Given the description of an element on the screen output the (x, y) to click on. 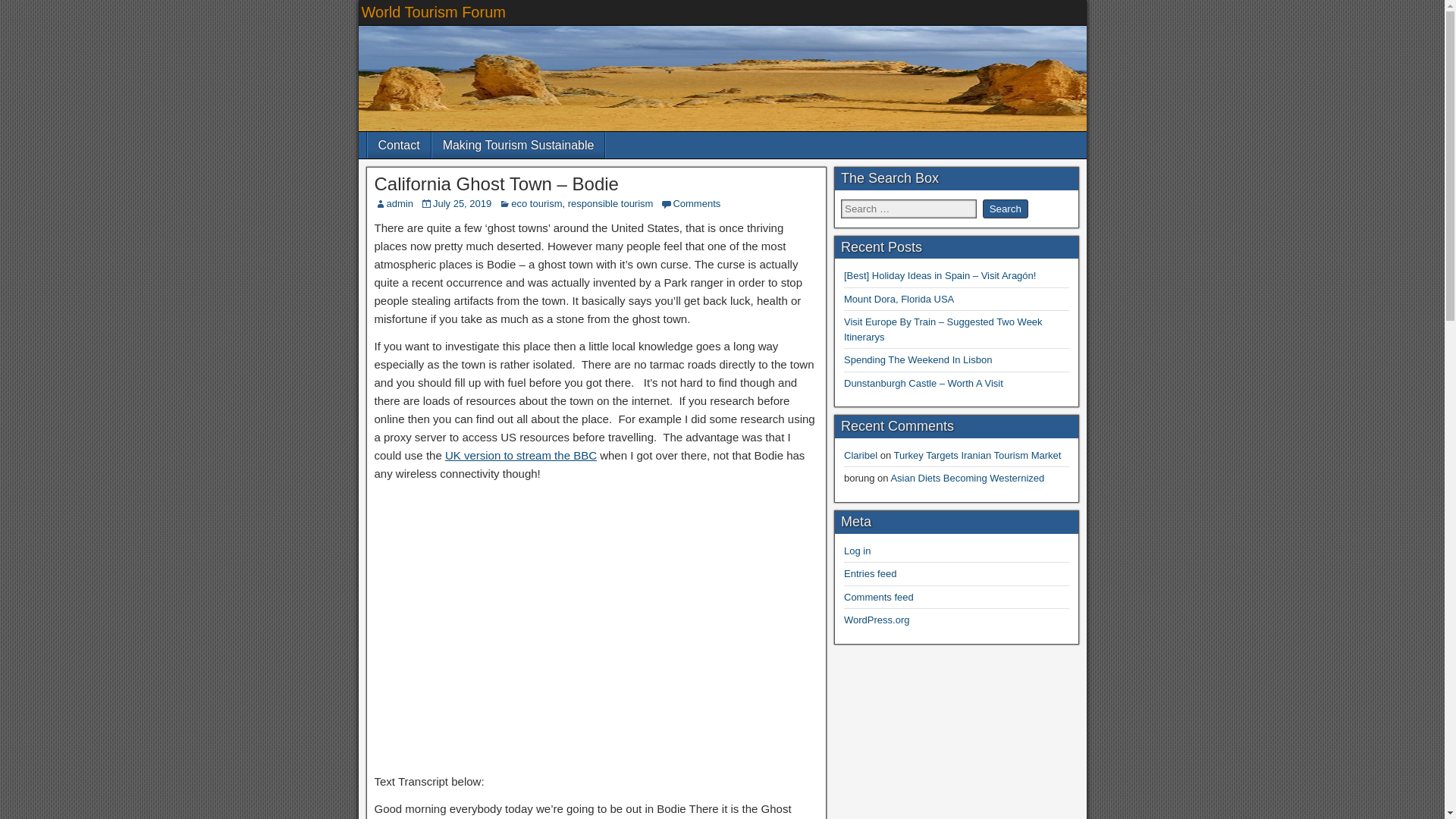
eco tourism (536, 203)
Making Tourism Sustainable (518, 144)
admin (400, 203)
Log in (857, 550)
Entries feed (870, 573)
Claribel (860, 455)
Asian Diets Becoming Westernized (966, 478)
Contact (397, 144)
Comments (696, 203)
Spending The Weekend In Lisbon (917, 359)
Search (1004, 208)
Comments feed (879, 596)
July 25, 2019 (462, 203)
UK version to stream the BBC (520, 454)
Mount Dora, Florida USA (898, 298)
